Given the description of an element on the screen output the (x, y) to click on. 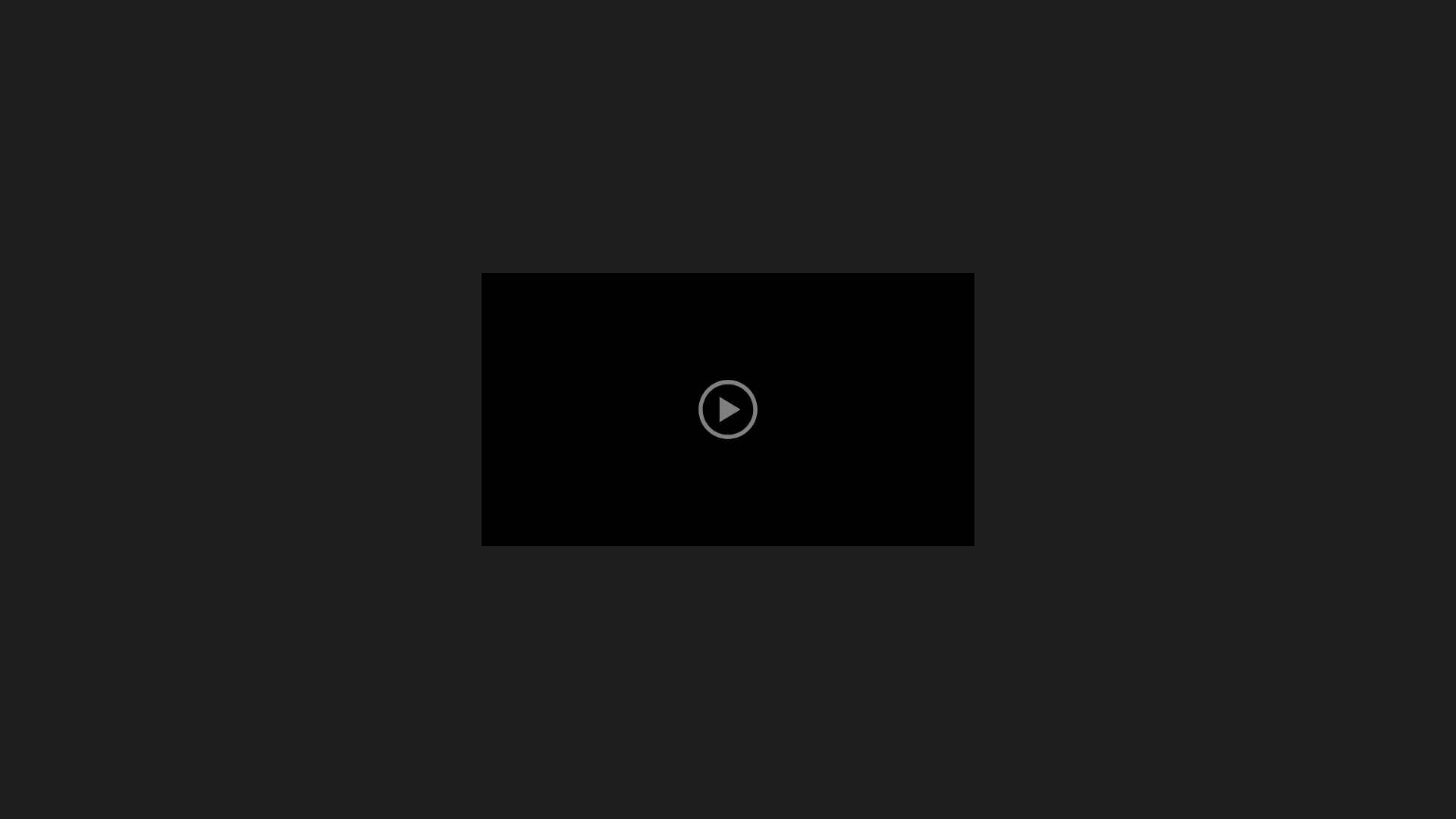
JOE FERMA : LIGHTING DOP : +61 0433 689 975 Element type: text (215, 25)
Owner Log In Element type: text (781, 698)
BUY PHOTOS Element type: text (1371, 132)
Powered by SmugMug Element type: text (695, 698)
Share Gallery Element type: hover (1250, 132)
showreels Element type: text (1145, 23)
experience Element type: text (1222, 23)
home Element type: text (1082, 23)
Slideshow Element type: hover (1287, 132)
t & c Element type: text (1424, 23)
equipment Element type: text (1300, 23)
contact Element type: text (1371, 23)
